Given the description of an element on the screen output the (x, y) to click on. 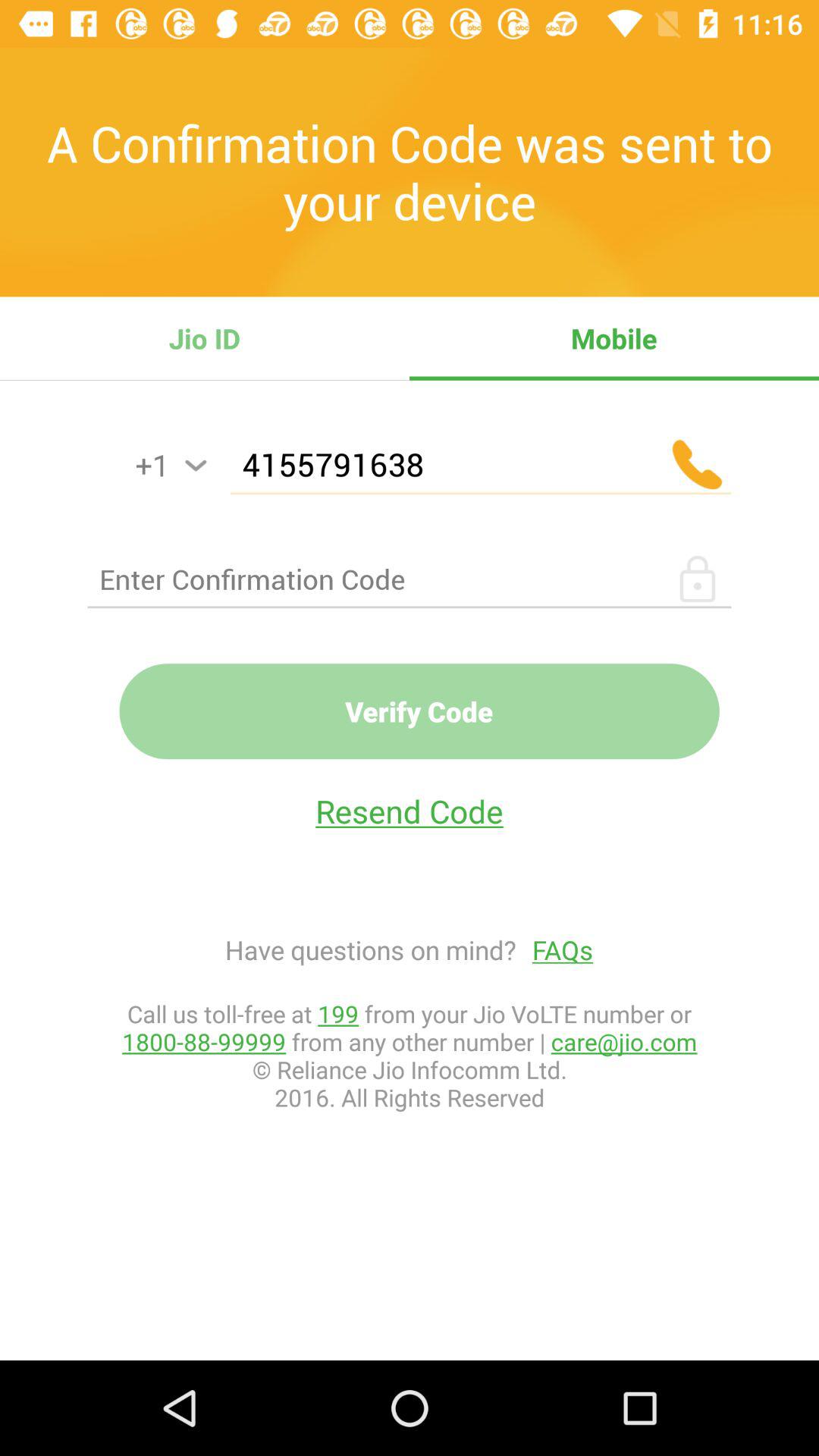
swipe until faqs icon (554, 949)
